Given the description of an element on the screen output the (x, y) to click on. 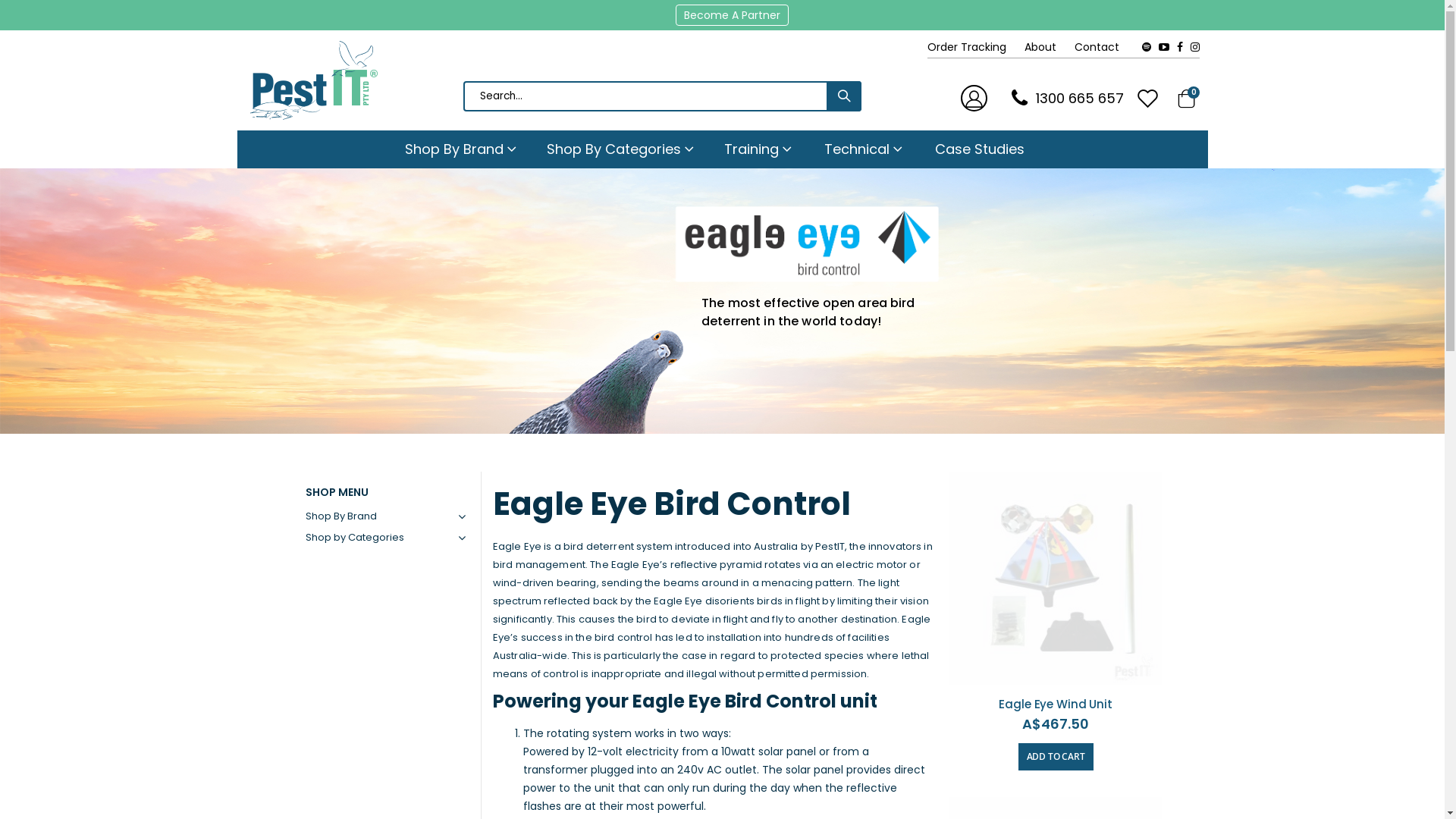
ADD TO CART Element type: text (1055, 756)
1300 665 657 Element type: text (1063, 97)
Cart
0 Element type: text (1185, 97)
Shop By Brand Element type: text (384, 516)
Search Element type: hover (843, 96)
Order Tracking Element type: text (974, 46)
Shop By Brand Element type: text (460, 149)
Shop By Categories Element type: text (620, 149)
Shop by Categories Element type: text (384, 537)
Training Element type: text (757, 149)
Become A Partner Element type: text (730, 14)
Eagle Eye Wind Unit Element type: text (1055, 704)
Technical Element type: text (863, 149)
About Element type: text (1047, 46)
Contact Element type: text (1104, 46)
Wishlist Element type: hover (1148, 97)
Case Studies Element type: text (979, 149)
